Given the description of an element on the screen output the (x, y) to click on. 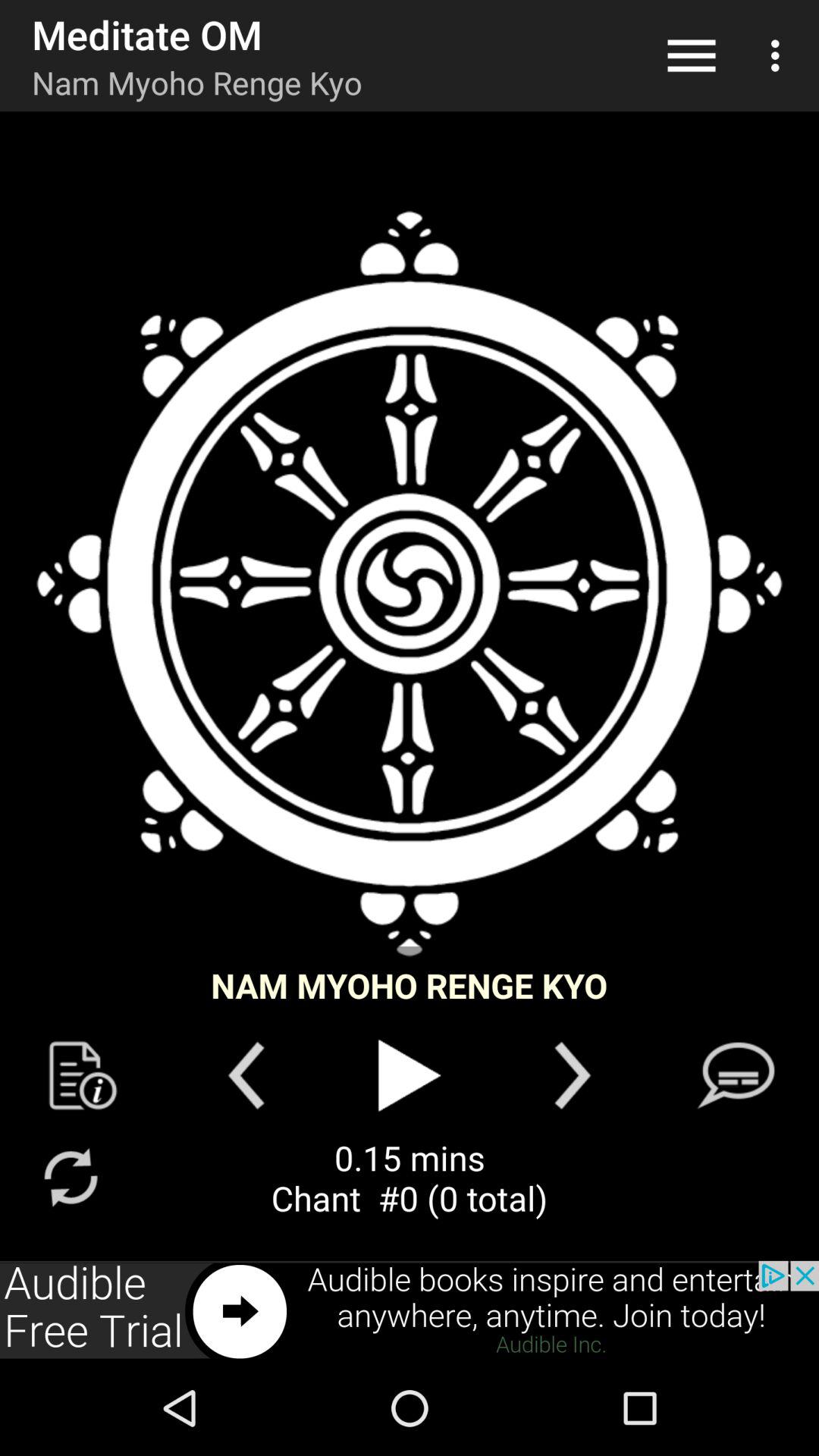
play (409, 1075)
